Given the description of an element on the screen output the (x, y) to click on. 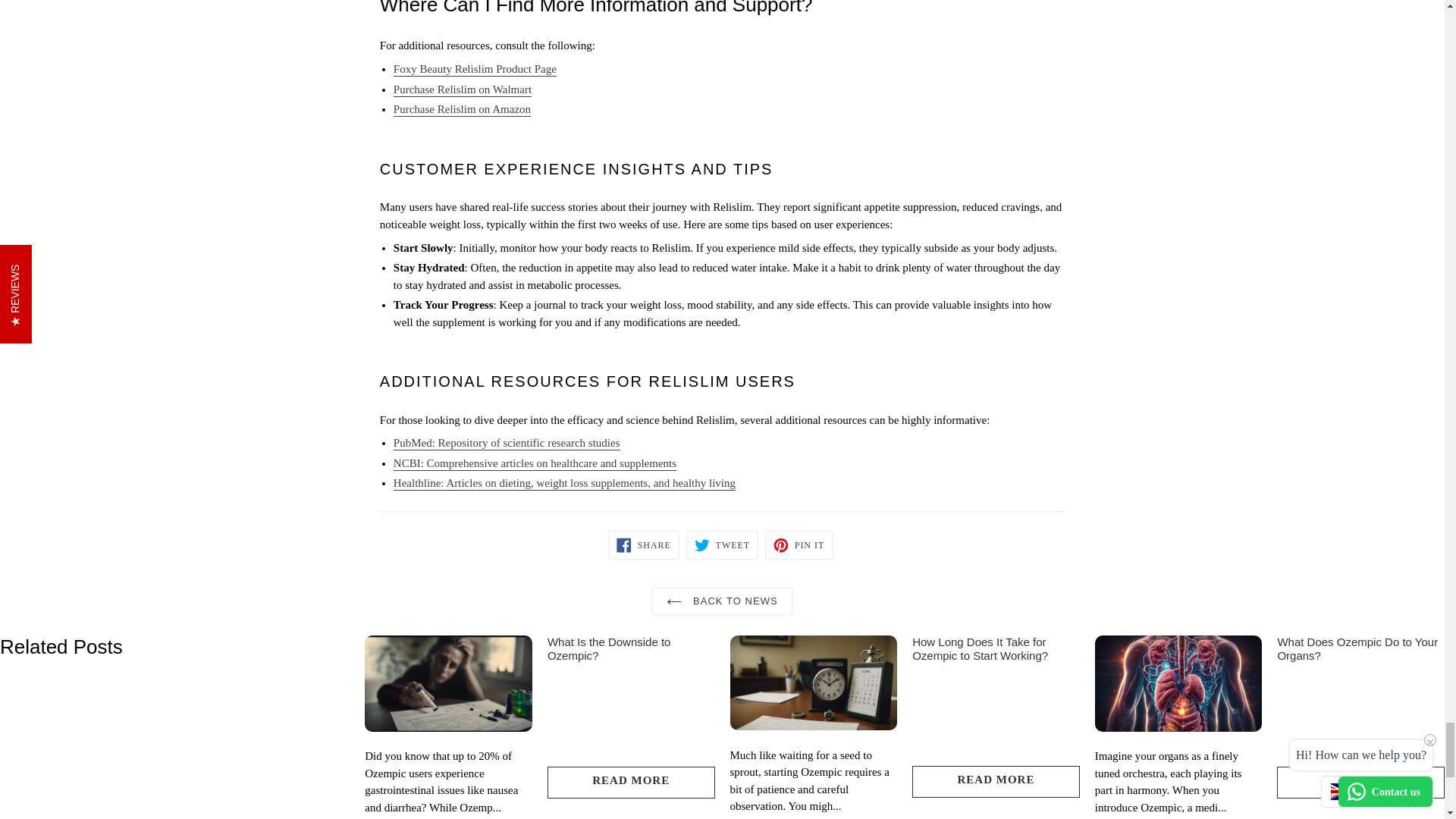
Share on Facebook (643, 544)
Pin on Pinterest (798, 544)
Tweet on Twitter (721, 544)
